Given the description of an element on the screen output the (x, y) to click on. 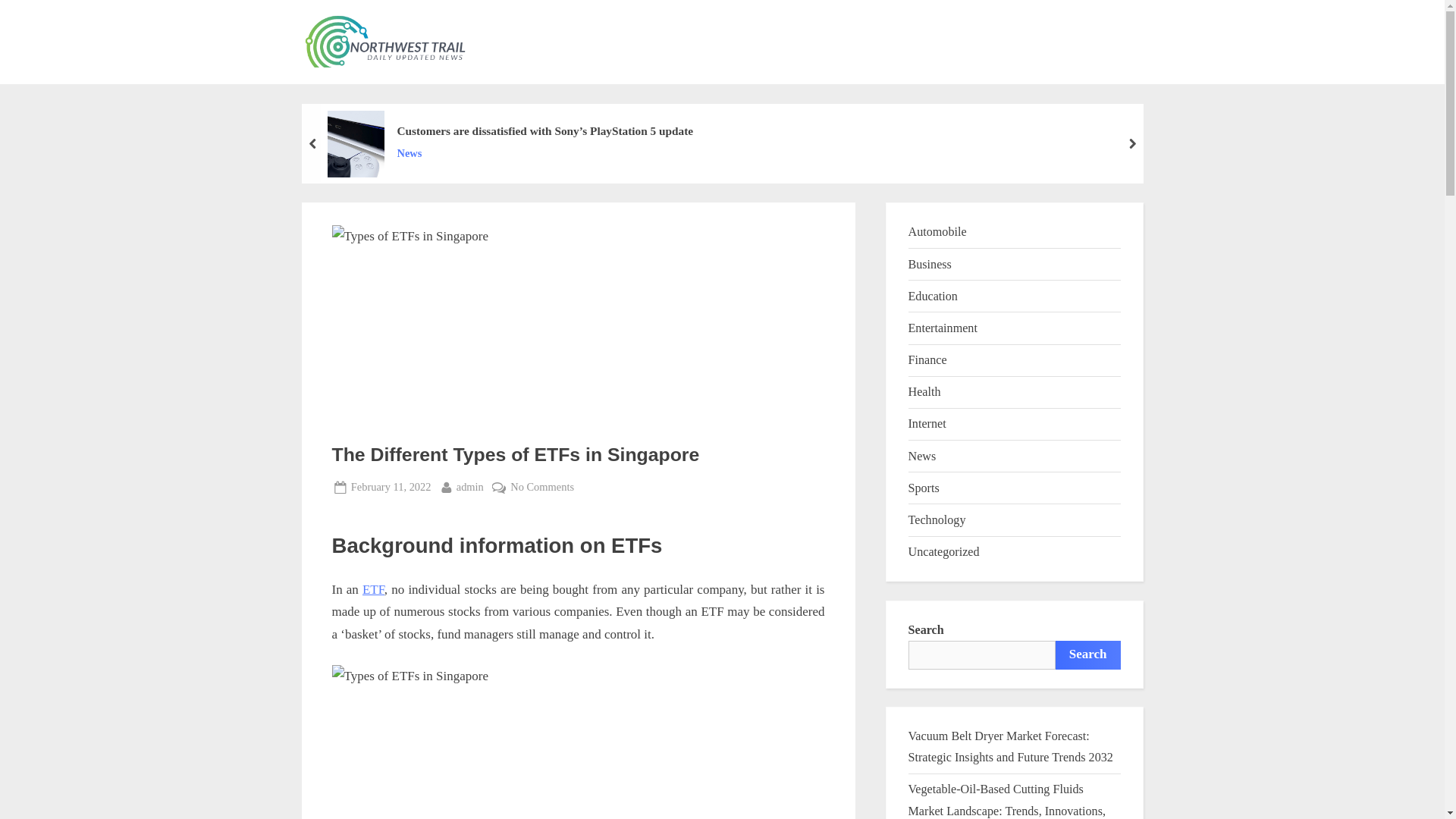
ETF (373, 589)
next (1131, 143)
prev (312, 143)
Northwest Trail (557, 54)
News (470, 486)
